Given the description of an element on the screen output the (x, y) to click on. 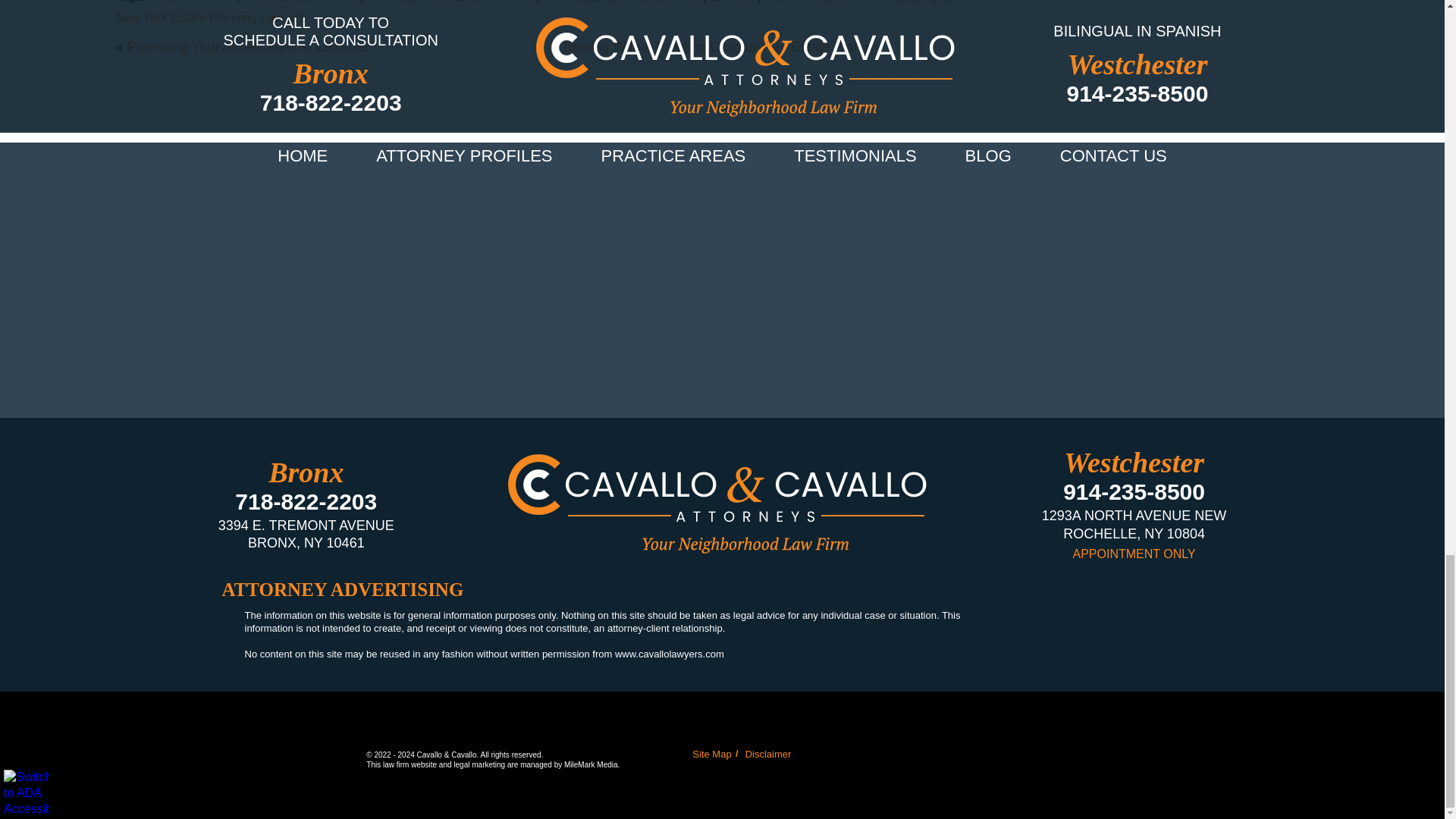
Bronx Estate Planning Attorneys (507, 1)
Asset Protection (192, 1)
Bronx Estate Planning Attorney (328, 1)
